Given the description of an element on the screen output the (x, y) to click on. 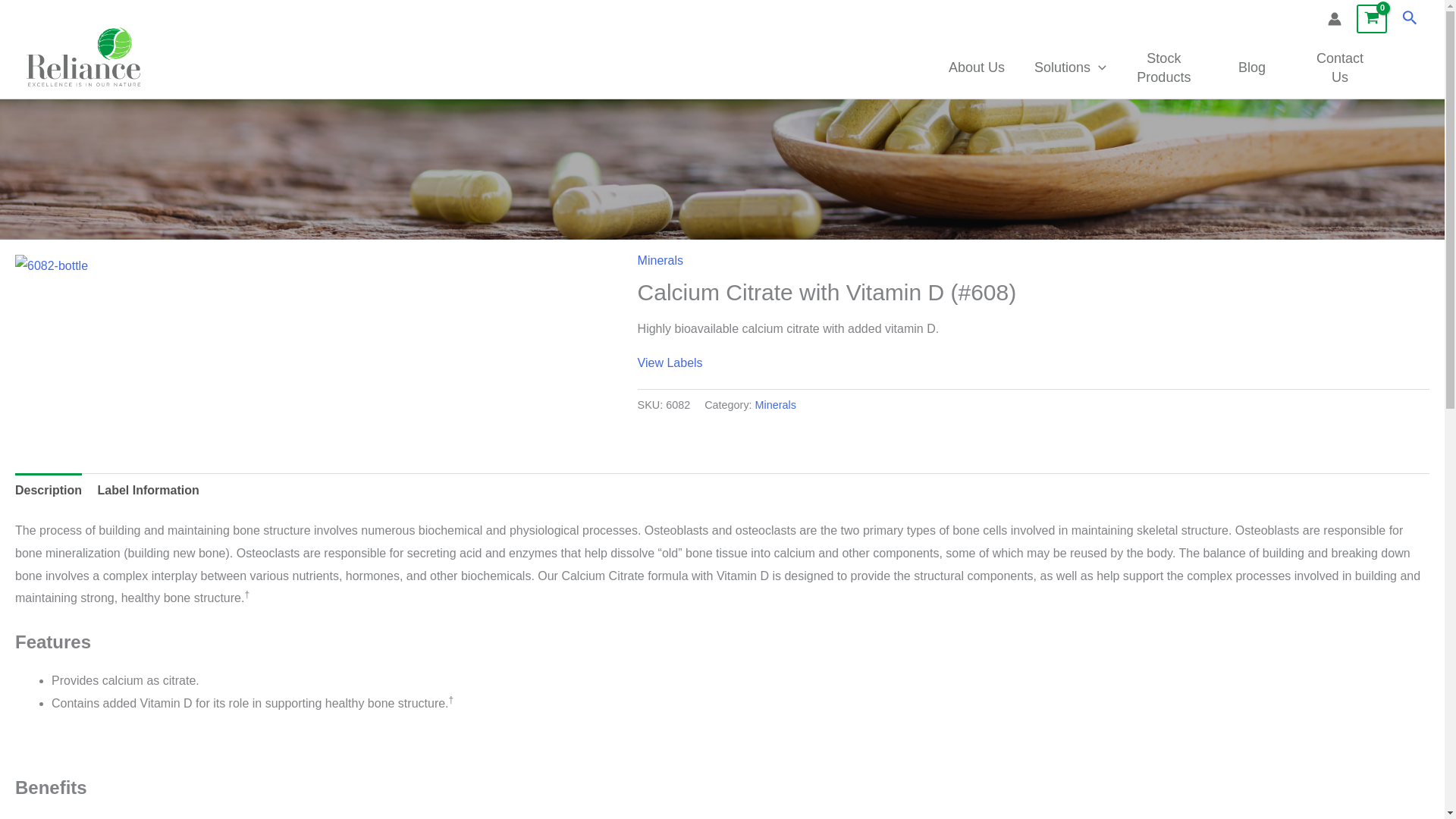
Stock Products (1163, 67)
Solutions (1069, 67)
About Us (976, 67)
Blog (1251, 67)
6082-bottle (297, 265)
Contact Us (1339, 67)
